Given the description of an element on the screen output the (x, y) to click on. 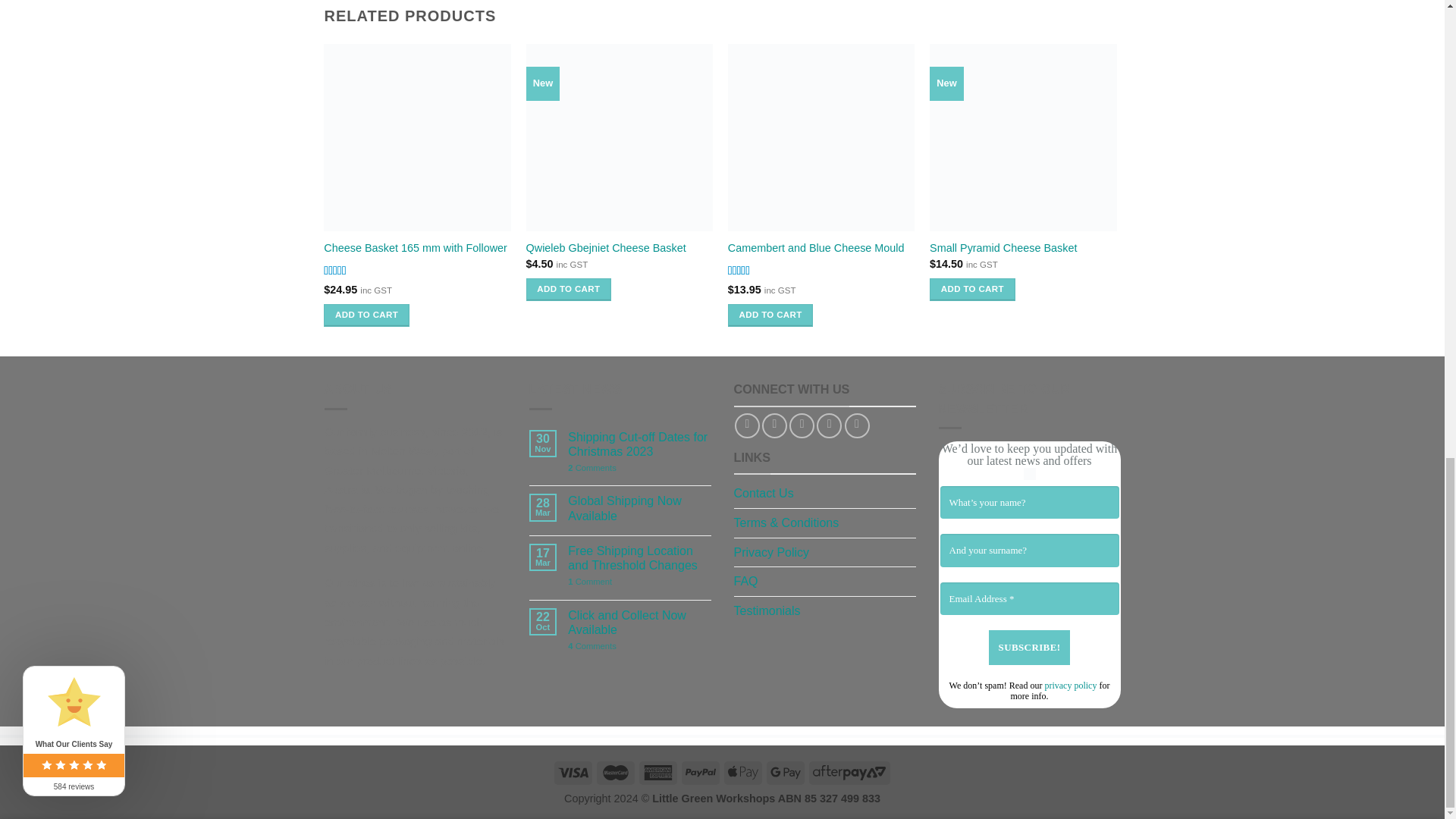
Subscribe! (1029, 647)
